Given the description of an element on the screen output the (x, y) to click on. 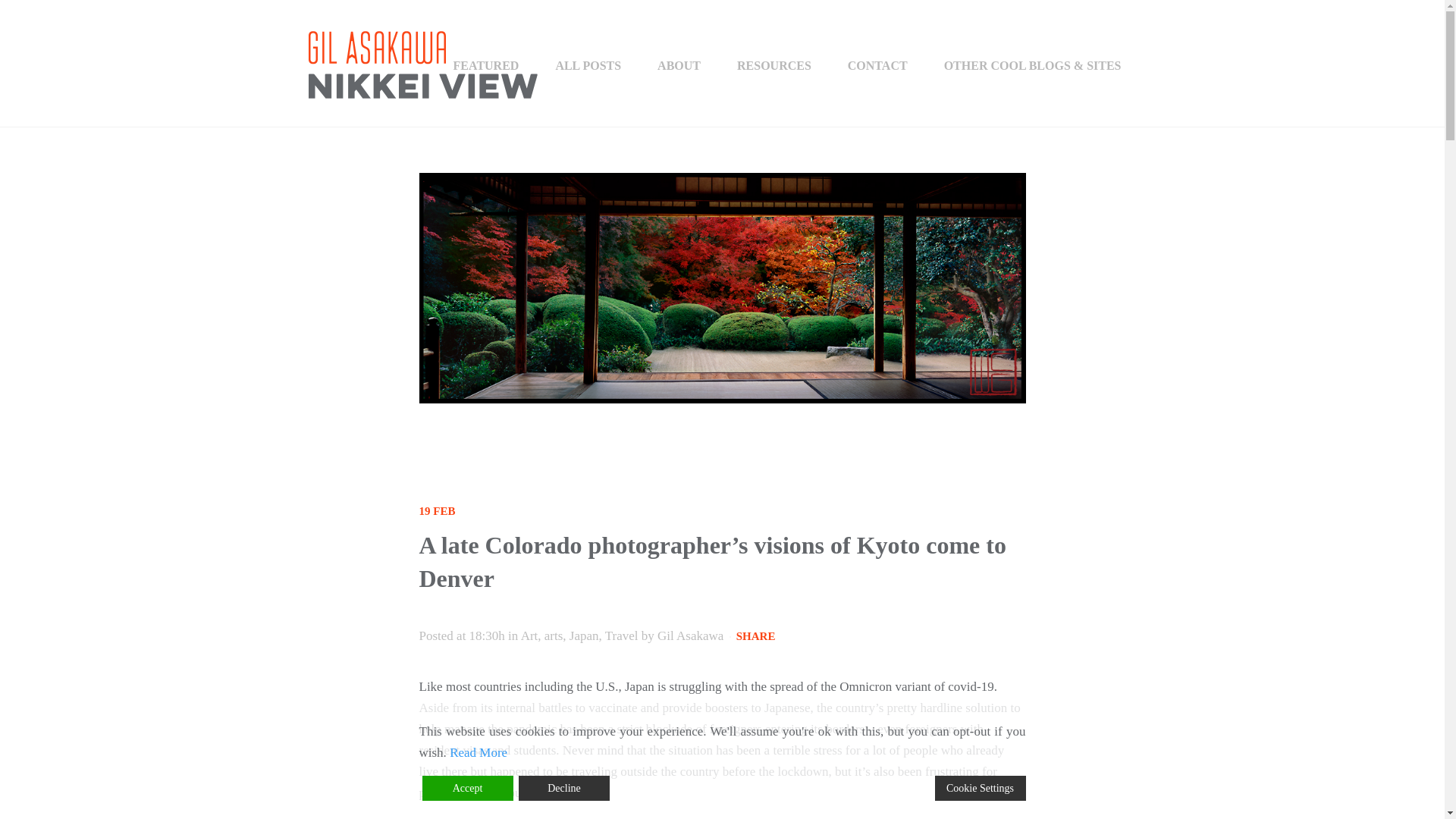
Japan (583, 635)
SHARE (756, 635)
Art (529, 635)
Gil Asakawa (690, 635)
Travel (622, 635)
arts (553, 635)
